Given the description of an element on the screen output the (x, y) to click on. 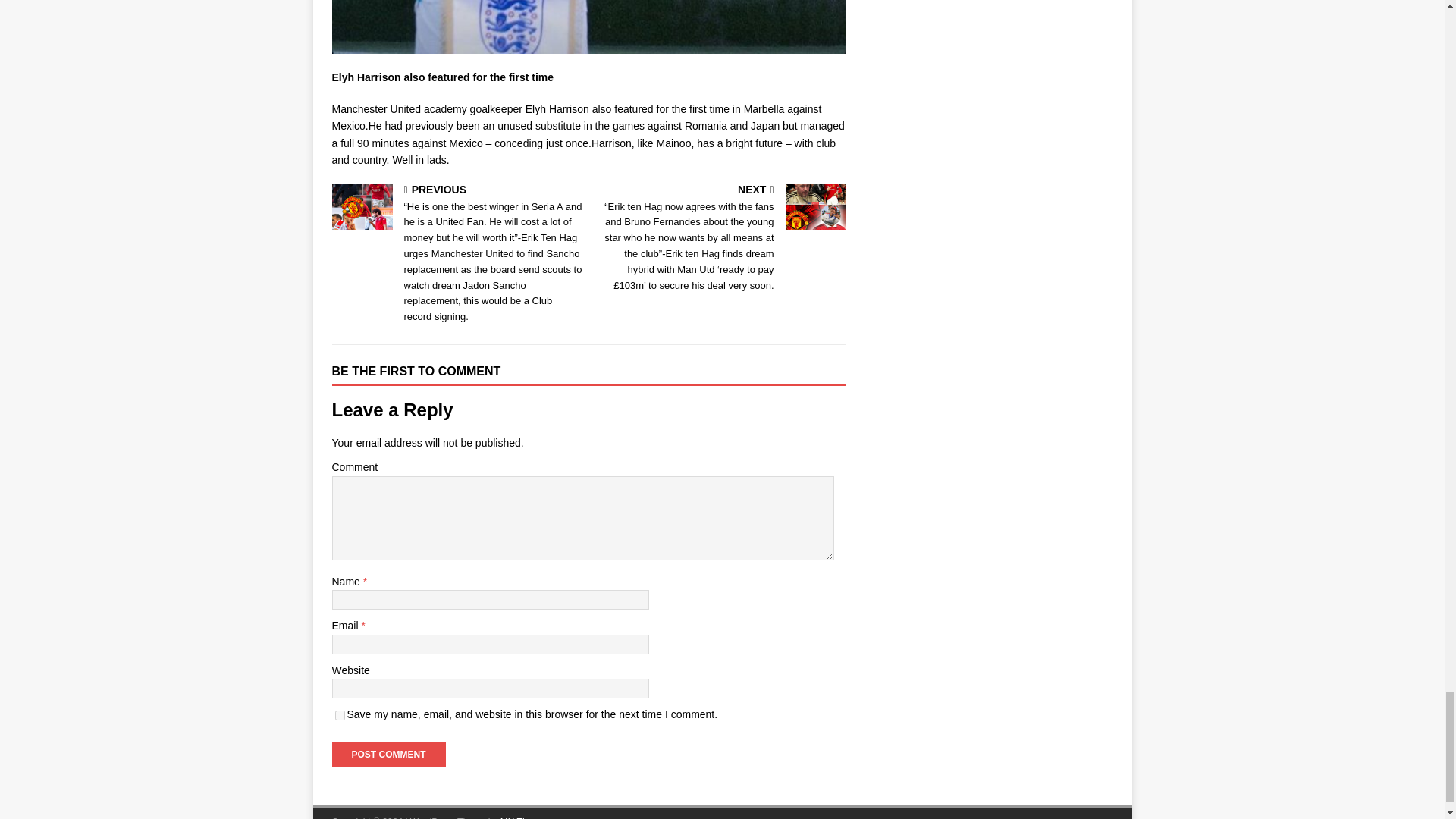
yes (339, 715)
Post Comment (388, 754)
